Given the description of an element on the screen output the (x, y) to click on. 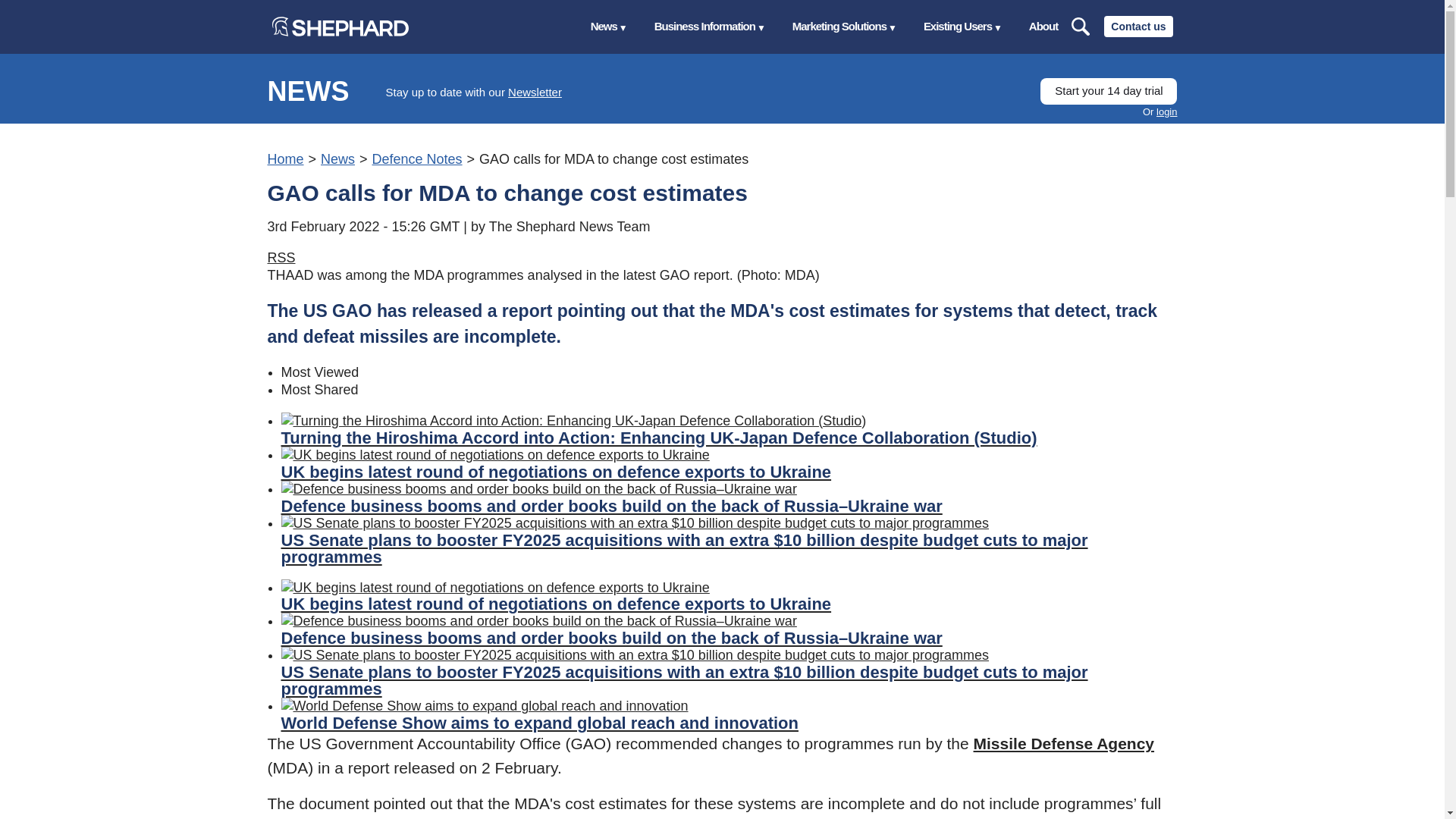
Defence Notes (416, 159)
Contact us (1137, 25)
Defence Notes RSS Feed (280, 257)
login (1166, 111)
Login (1166, 111)
Newsletter (535, 91)
About (1042, 27)
Start your 14 day trial (1108, 90)
Start a trial subscription (1108, 90)
Shephard (338, 26)
